Given the description of an element on the screen output the (x, y) to click on. 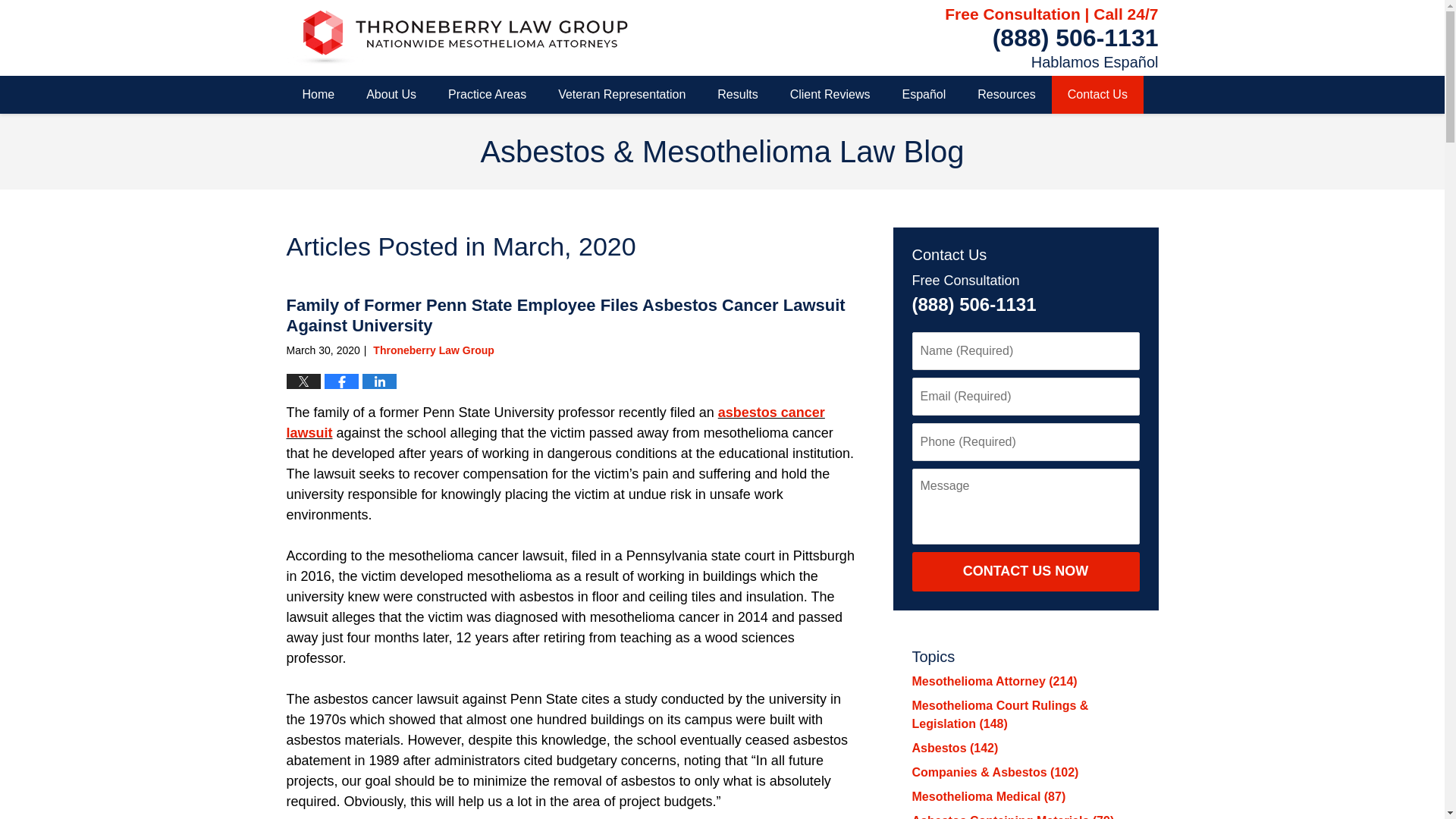
asbestos cancer lawsuit (555, 422)
Throneberry Law Group (432, 349)
Results (737, 94)
Resources (1005, 94)
Contact Us (1096, 94)
About Us (391, 94)
Veteran Representation (621, 94)
Client Reviews (830, 94)
Home (318, 94)
Practice Areas (486, 94)
